Given the description of an element on the screen output the (x, y) to click on. 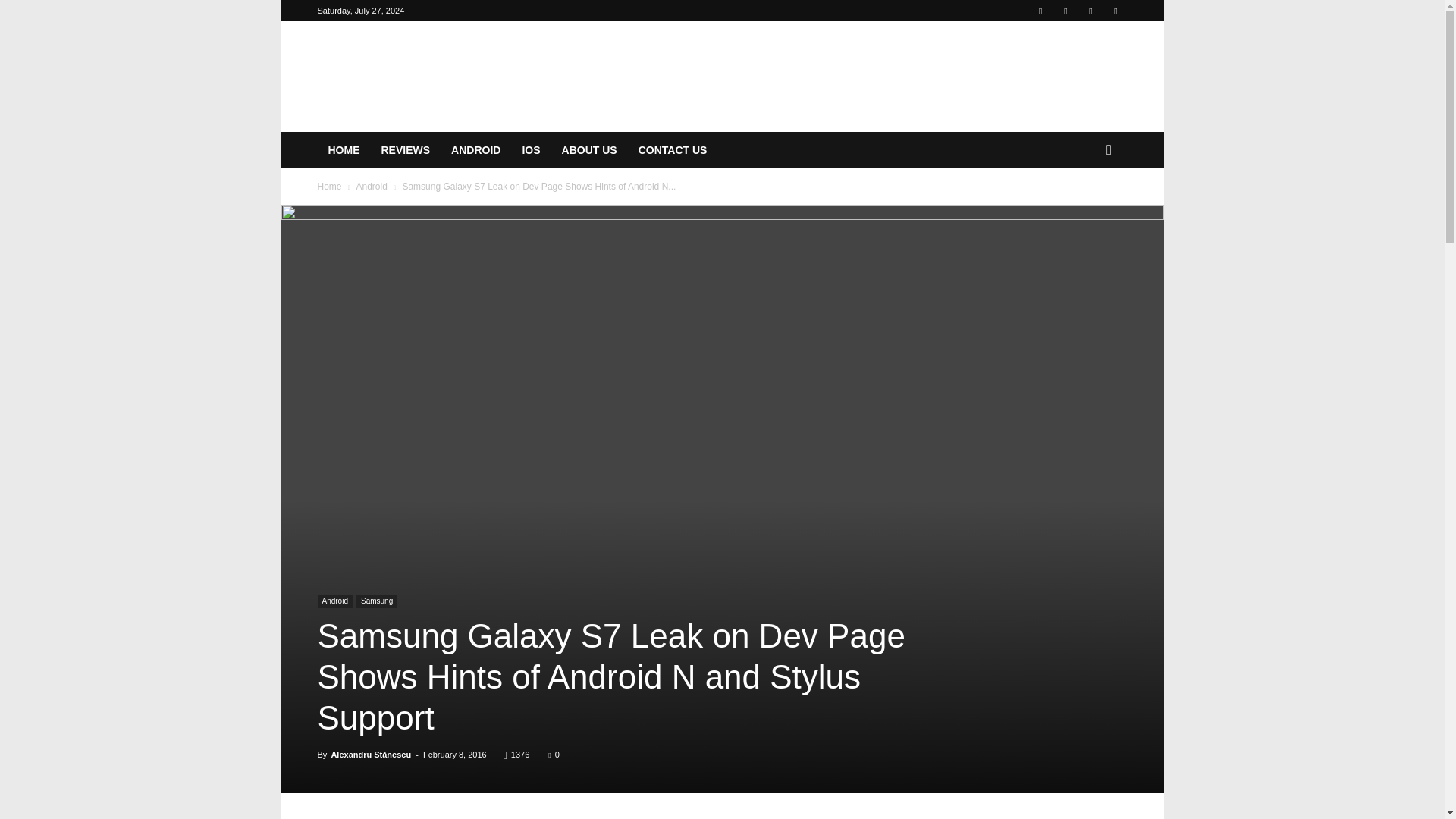
0 (553, 754)
Search (1085, 210)
HOME (343, 149)
View all posts in Android (371, 185)
Samsung (376, 601)
REVIEWS (405, 149)
ABOUT US (589, 149)
Twitter (1090, 10)
Android (371, 185)
Youtube (1114, 10)
Home (328, 185)
Facebook (1040, 10)
ANDROID (476, 149)
Android (334, 601)
